Given the description of an element on the screen output the (x, y) to click on. 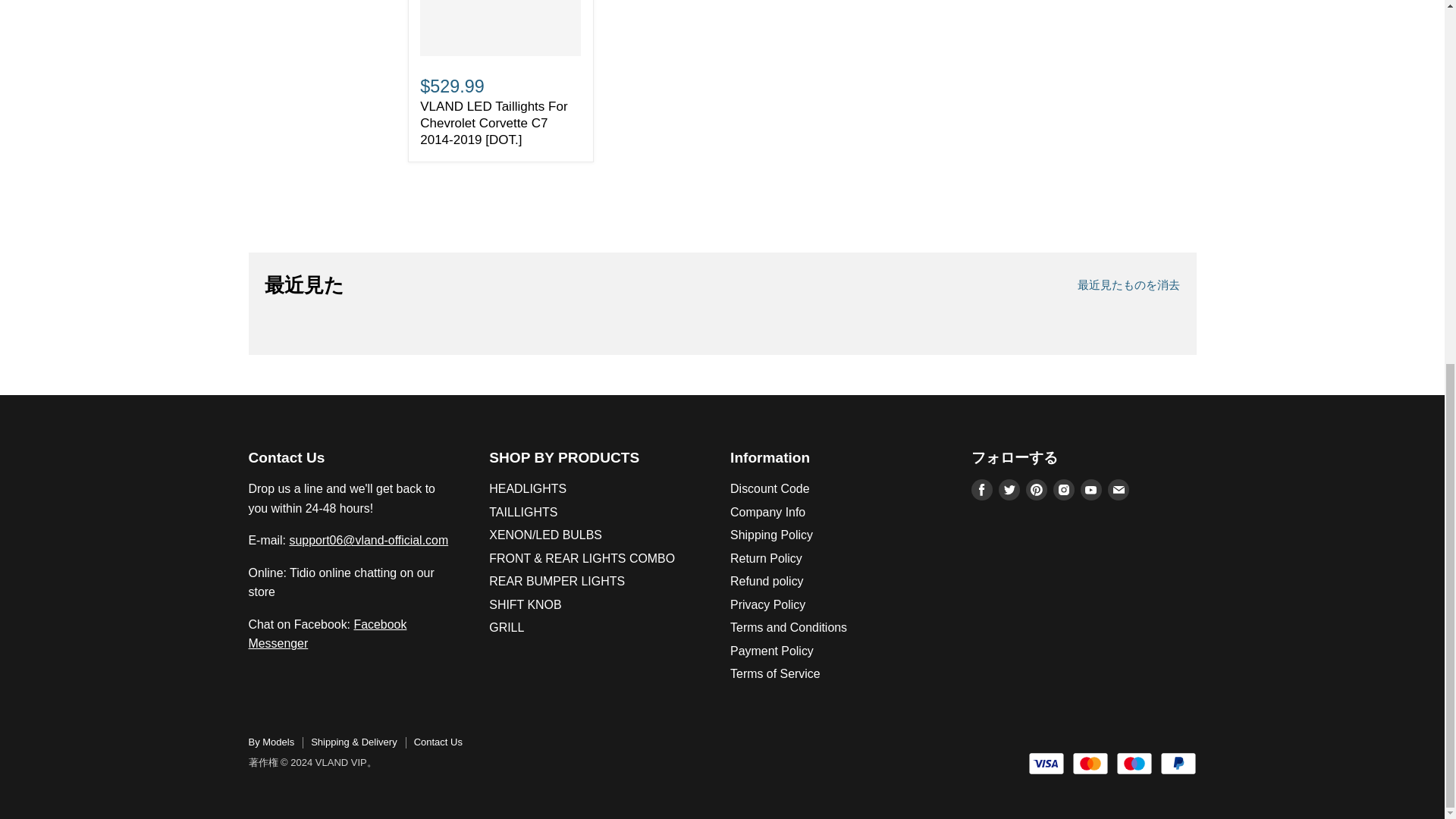
Maestro (1134, 763)
Instagram (1063, 489)
Youtube (1091, 489)
PayPal (1178, 763)
Visa (1045, 763)
Mastercard (1089, 763)
Facebook (981, 489)
Twitter (1009, 489)
Pinterest (1036, 489)
